Given the description of an element on the screen output the (x, y) to click on. 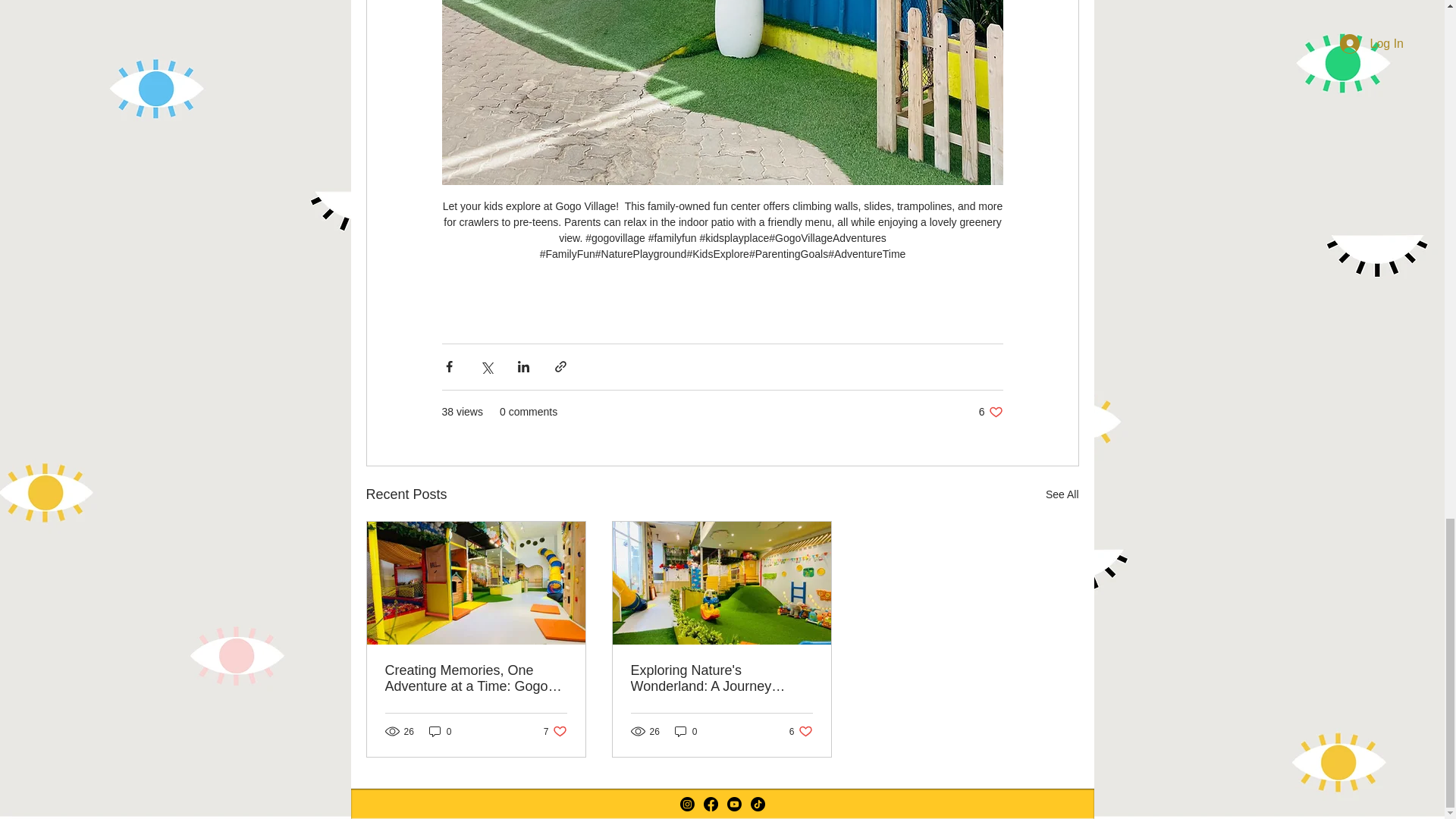
0 (440, 730)
0 (555, 730)
See All (800, 730)
